Given the description of an element on the screen output the (x, y) to click on. 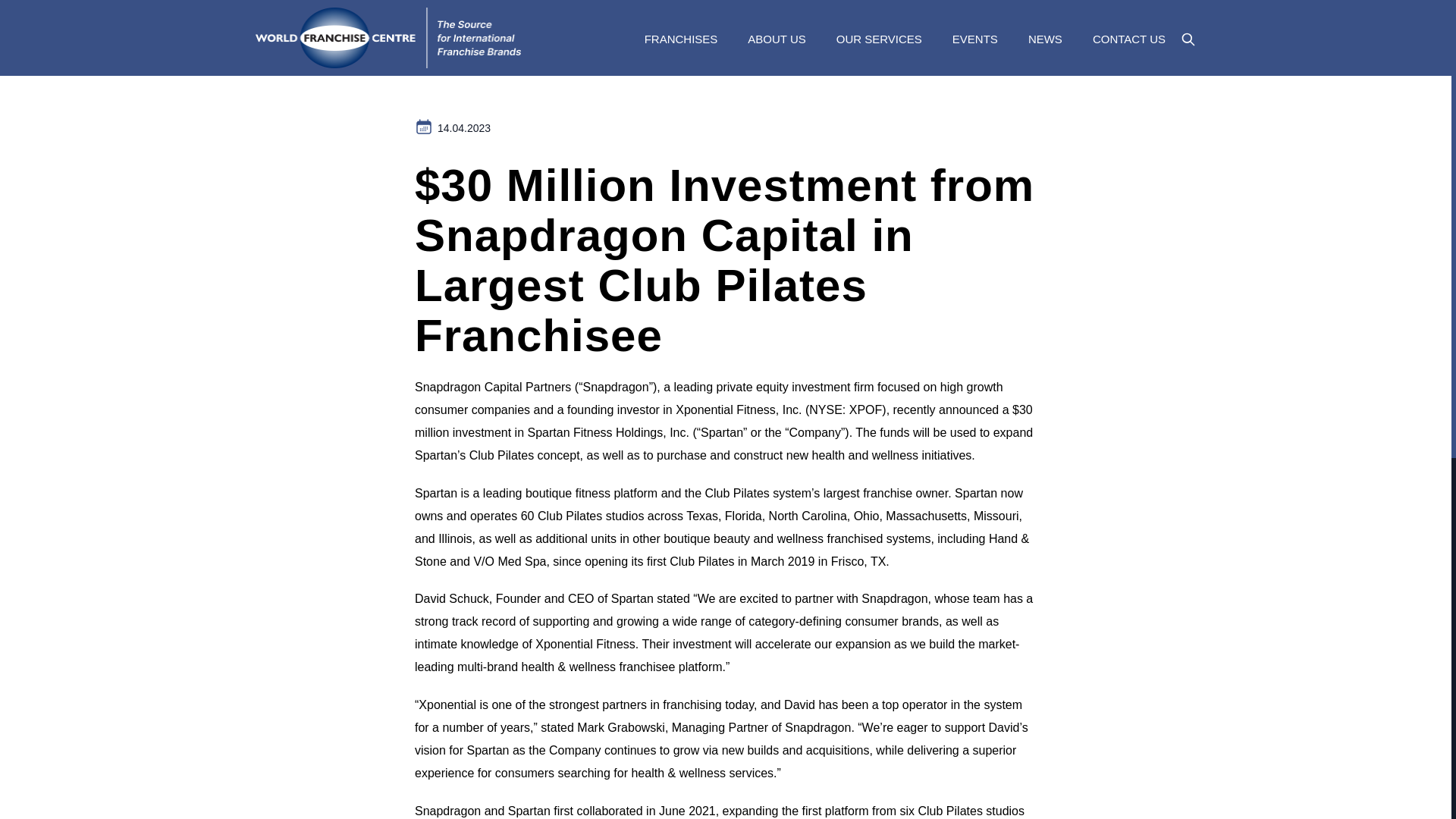
NEWS (1044, 38)
OUR SERVICES (878, 38)
FRANCHISES (681, 49)
CONTACT US (1129, 38)
EVENTS (974, 38)
ABOUT US (776, 38)
